Given the description of an element on the screen output the (x, y) to click on. 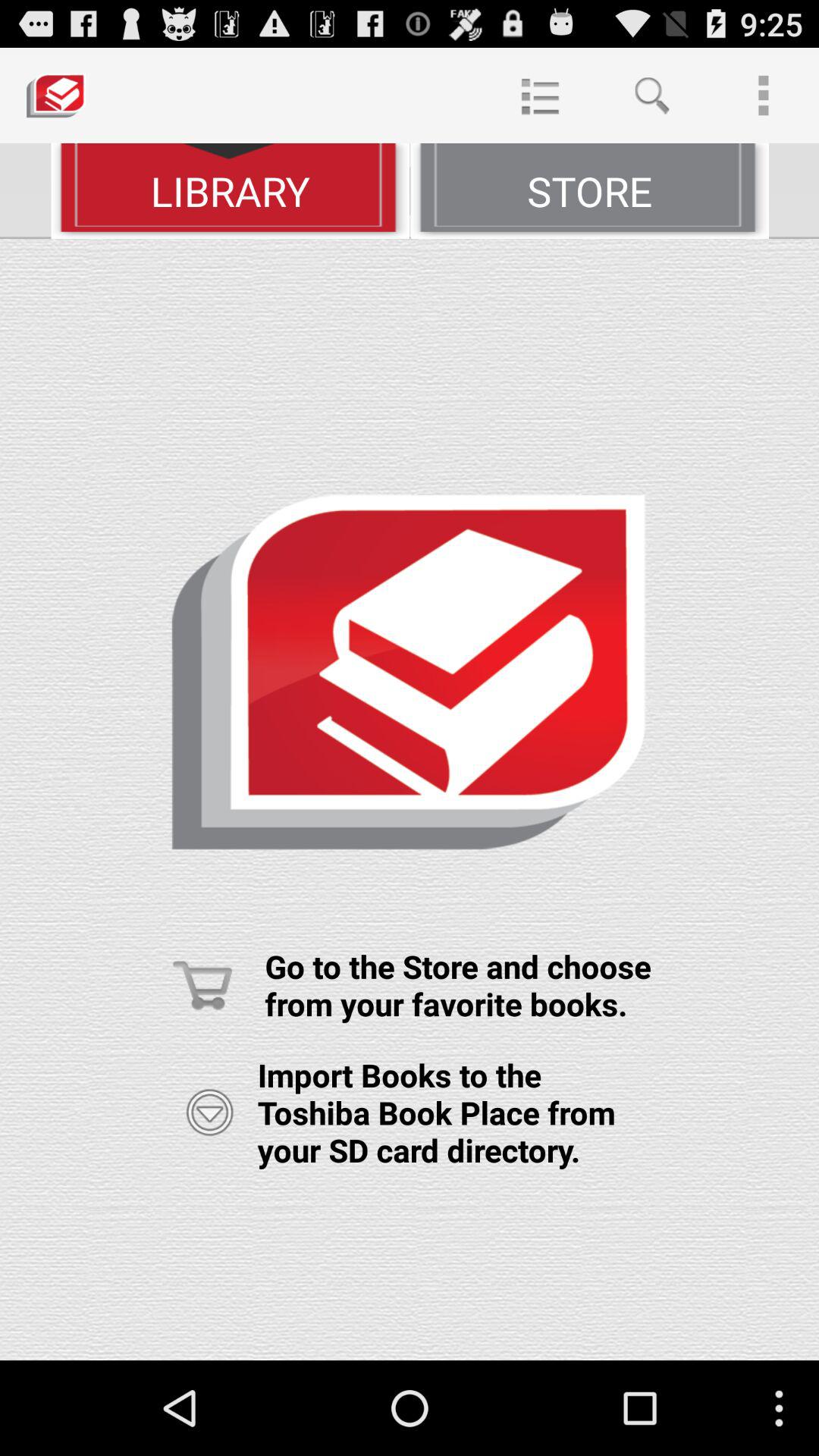
import books (209, 1112)
